Given the description of an element on the screen output the (x, y) to click on. 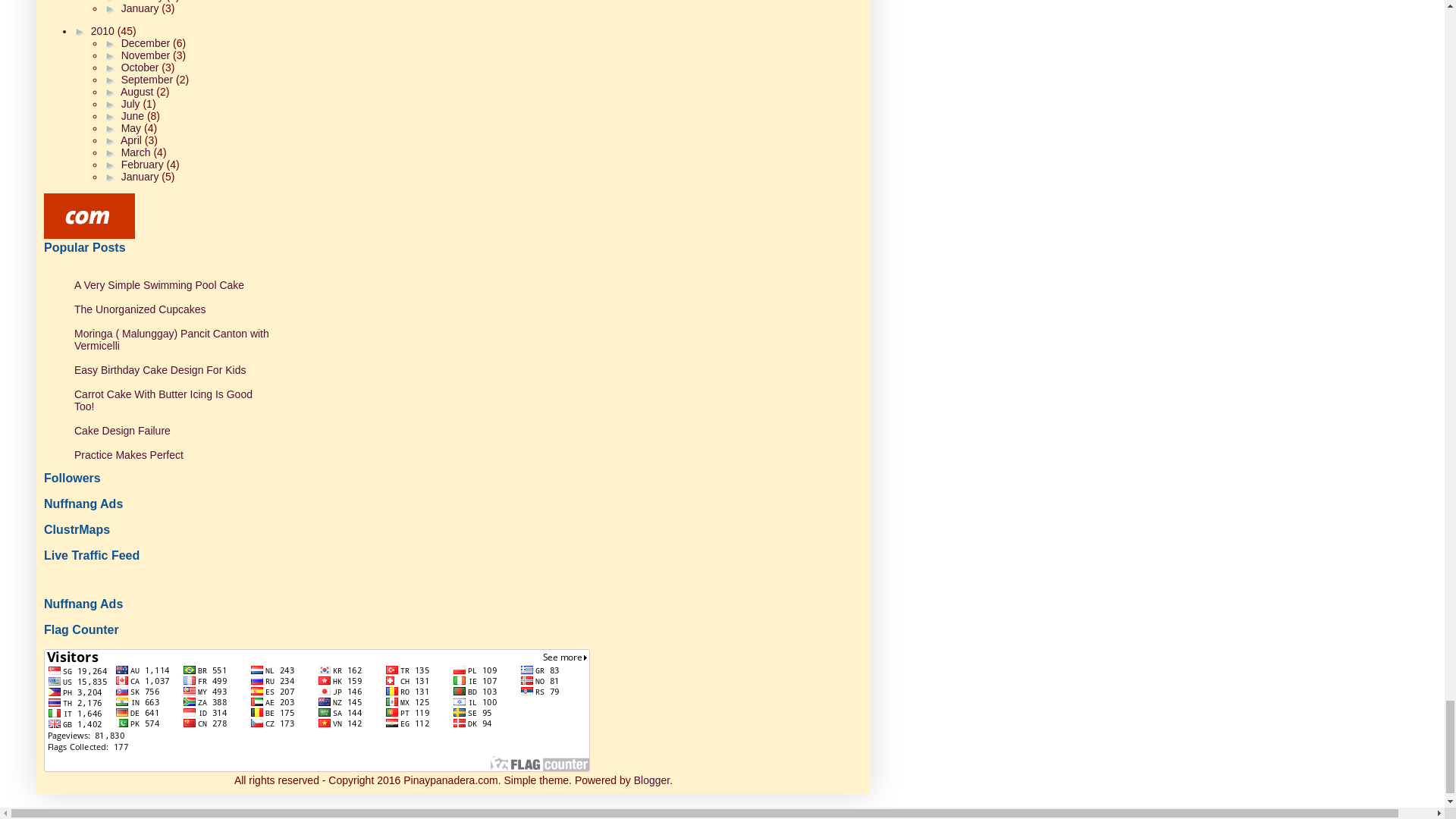
All recipes are on Petitchef (89, 234)
All recipes are on Petitchef (89, 216)
